Given the description of an element on the screen output the (x, y) to click on. 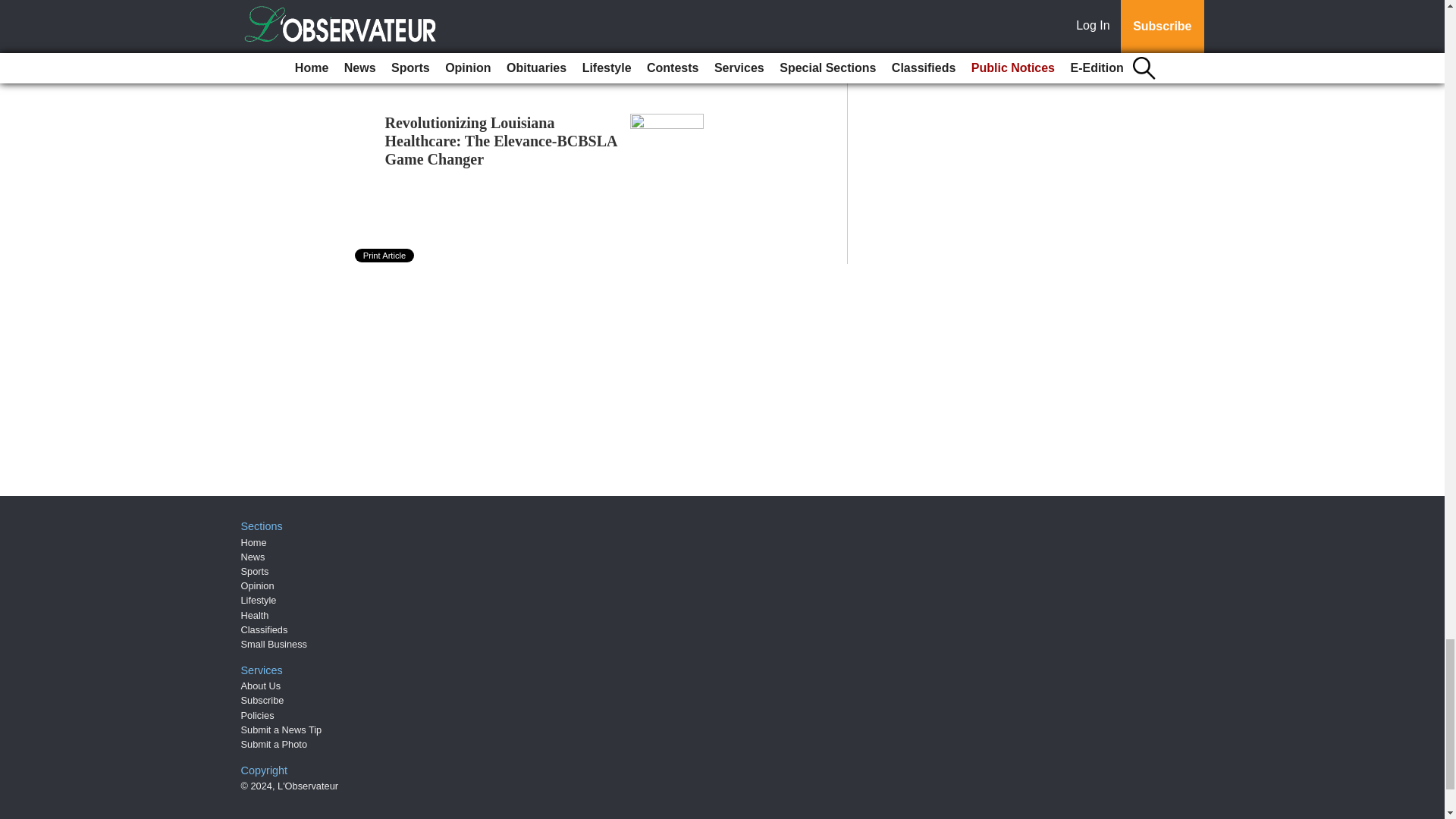
Print Article (384, 255)
